Given the description of an element on the screen output the (x, y) to click on. 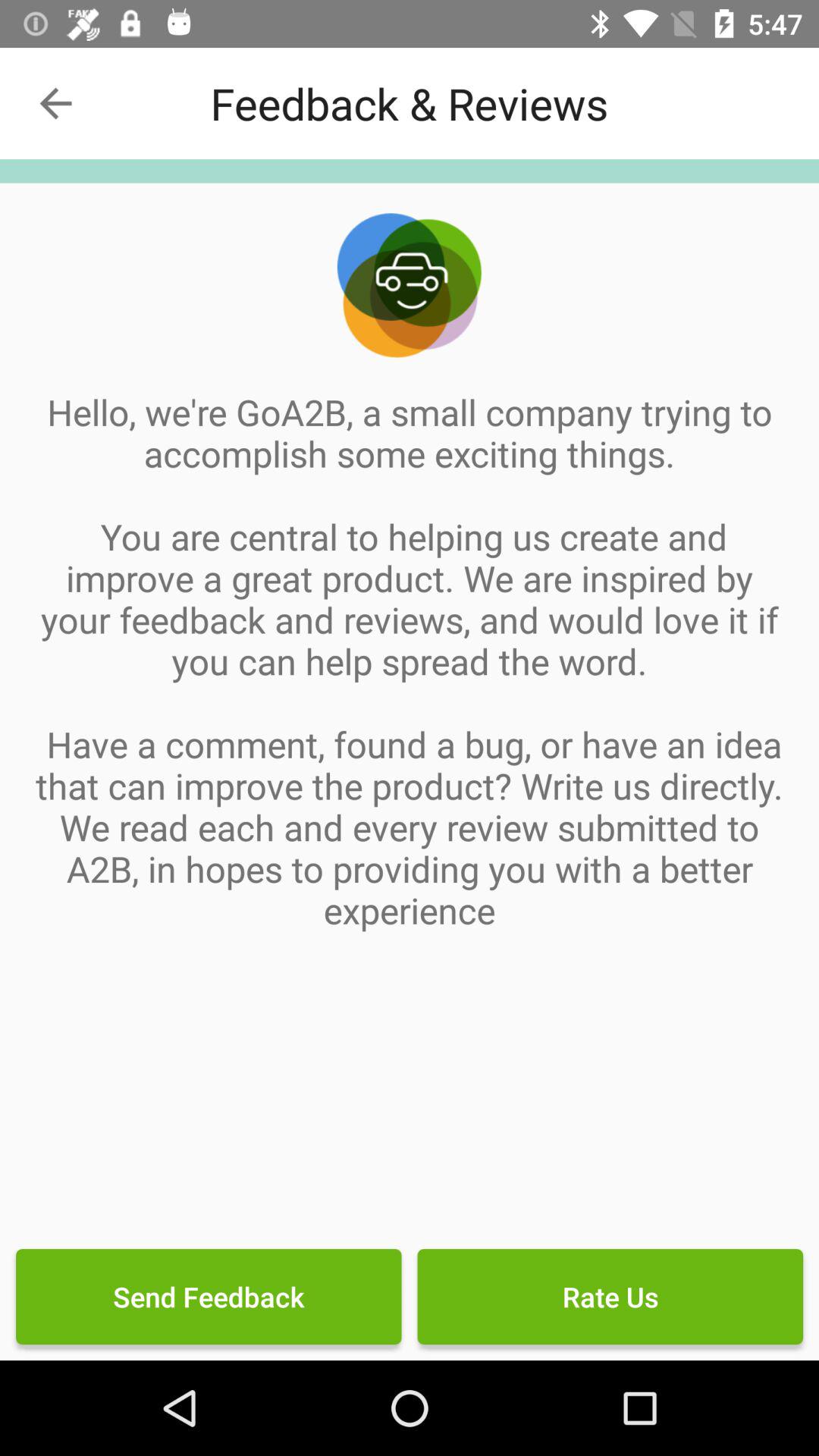
turn on item at the top left corner (55, 103)
